Given the description of an element on the screen output the (x, y) to click on. 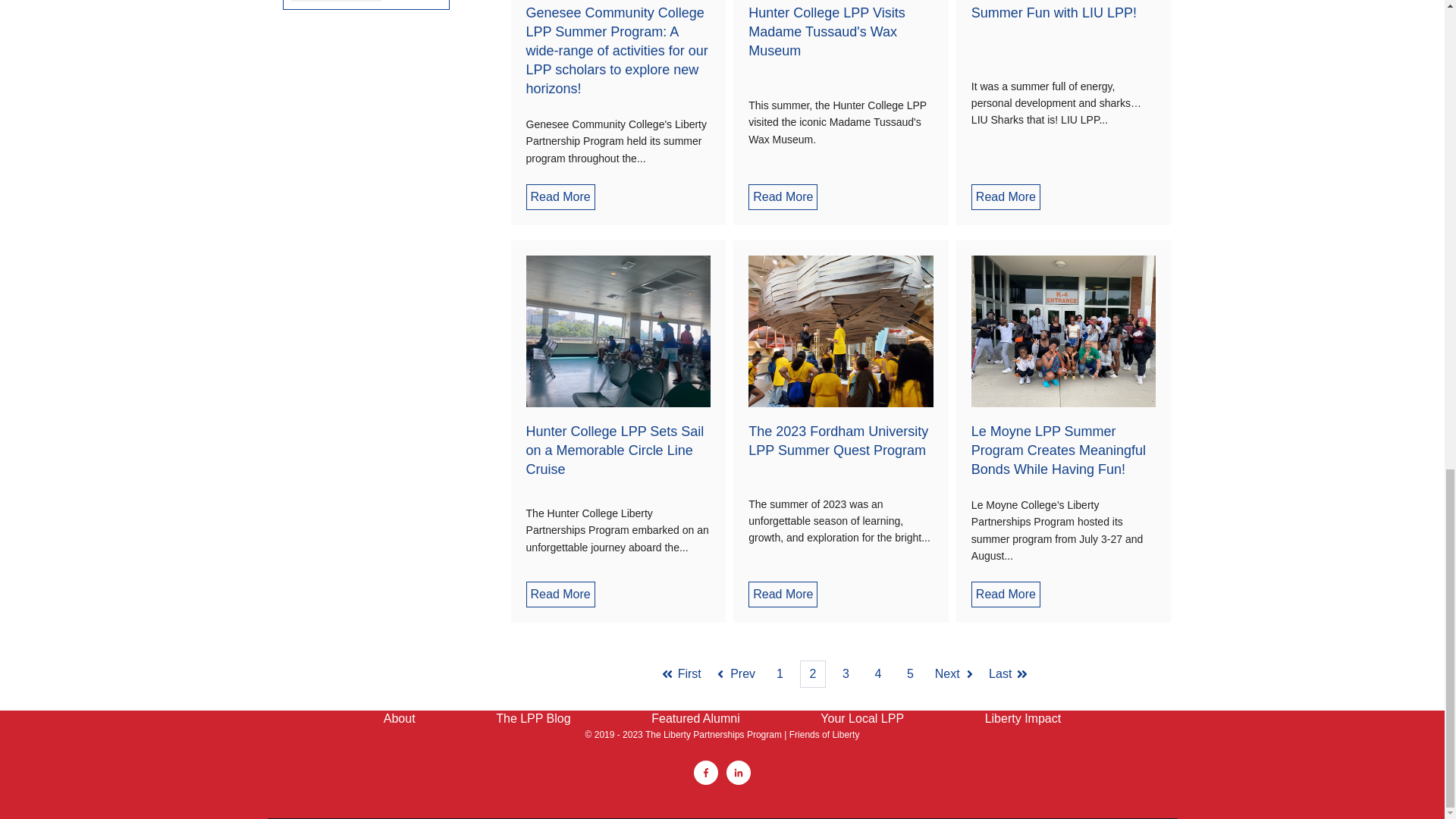
Hunter College LPP Visits Madame Tussaud's Wax Museum (826, 31)
Read More (560, 196)
